Given the description of an element on the screen output the (x, y) to click on. 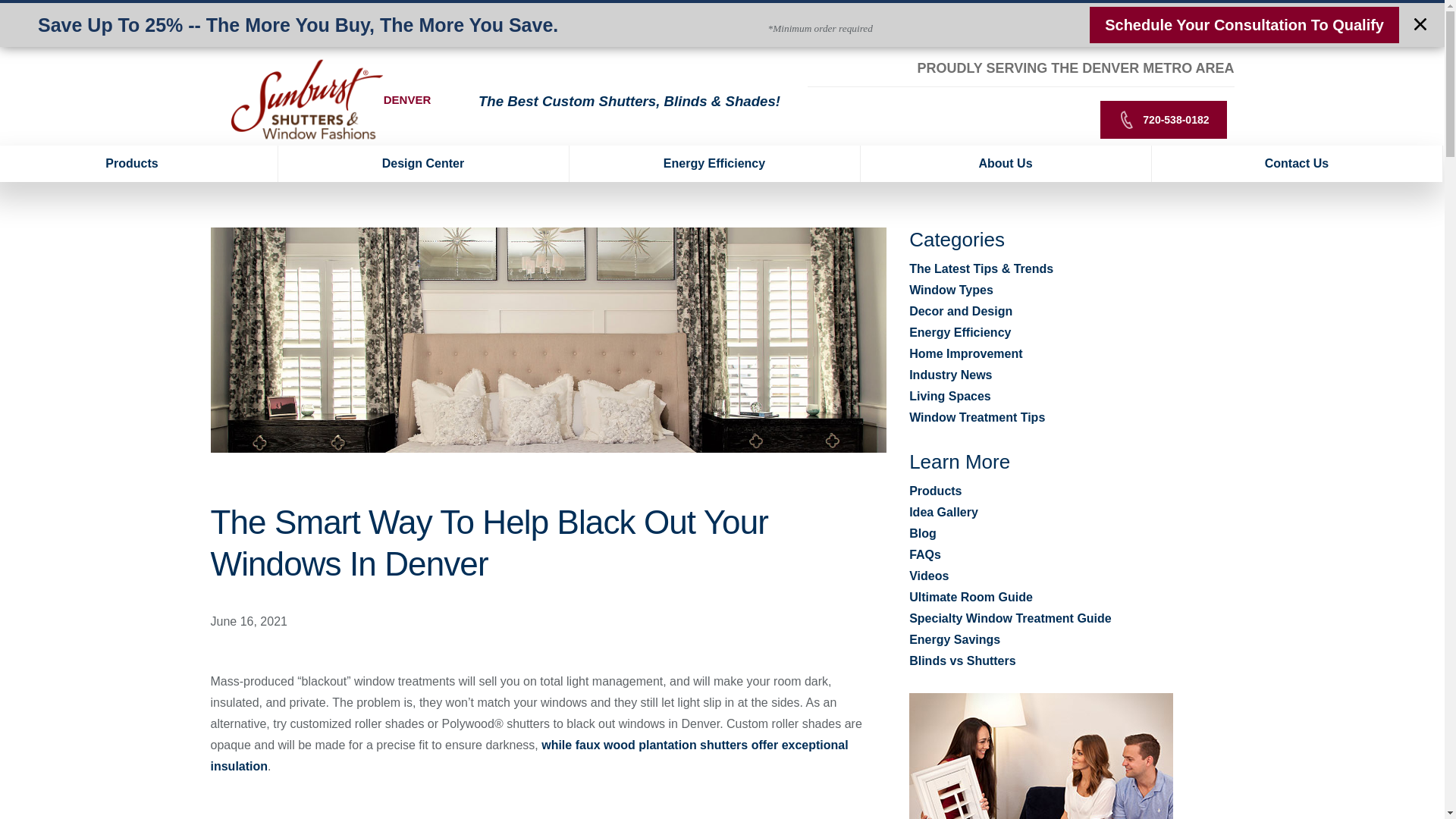
Products (139, 163)
Schedule Your Consultation To Qualify (1244, 24)
Sunburst Shutters Denver Home (307, 99)
720-538-0182 (1162, 119)
Design Center (423, 163)
